Given the description of an element on the screen output the (x, y) to click on. 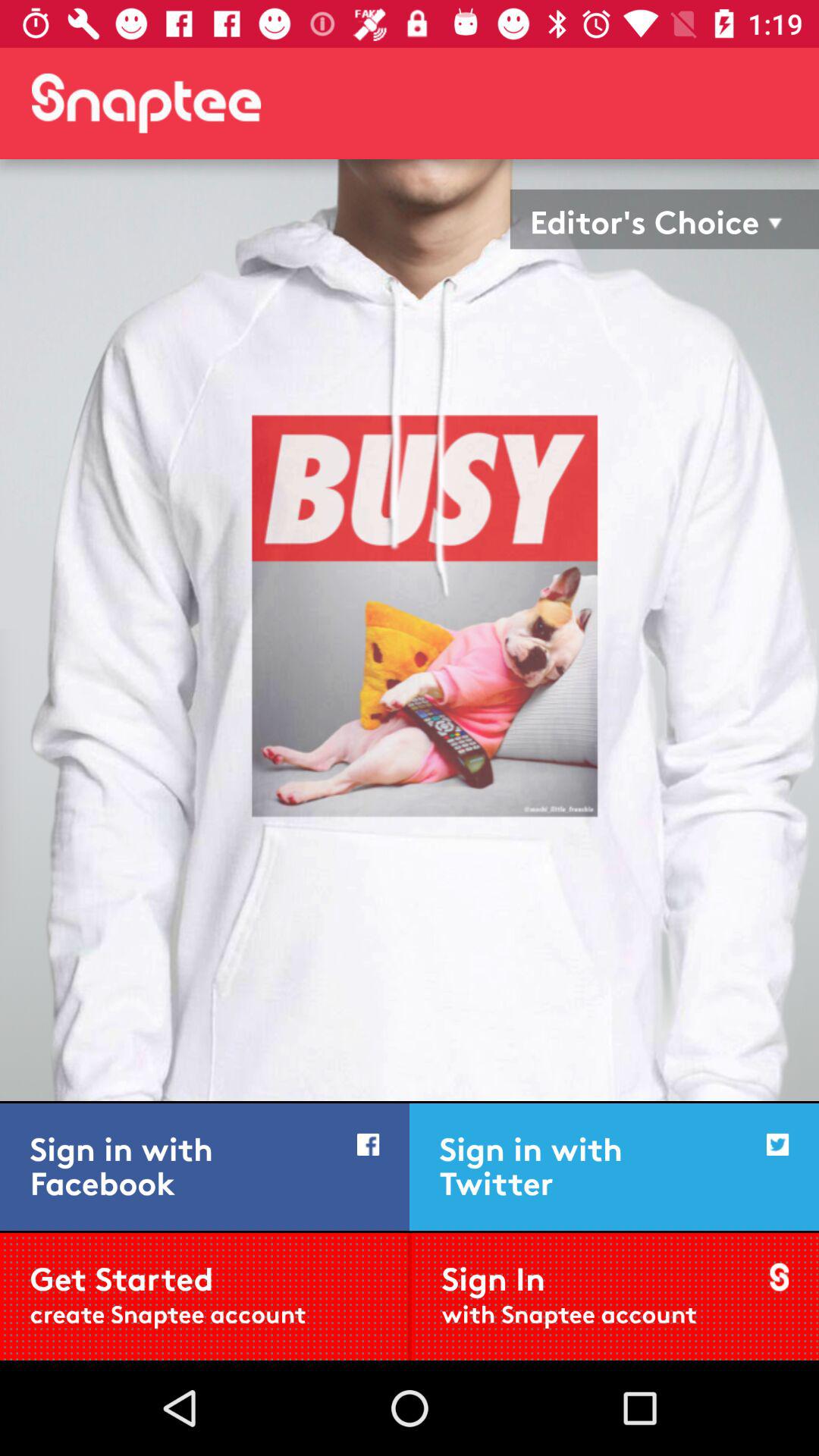
jump until the editor's choice item (644, 219)
